Given the description of an element on the screen output the (x, y) to click on. 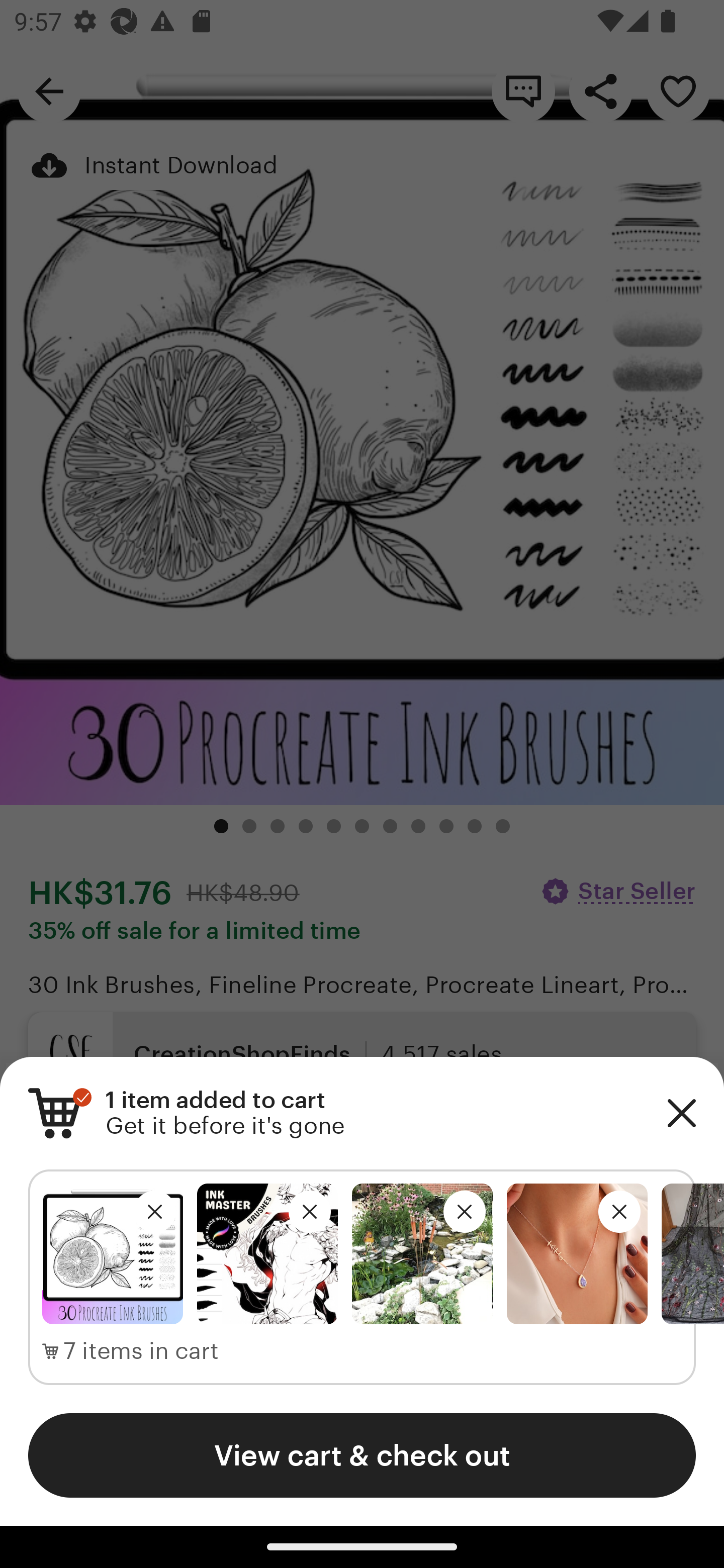
7 items in cart (130, 1351)
View cart & check out (361, 1454)
